Given the description of an element on the screen output the (x, y) to click on. 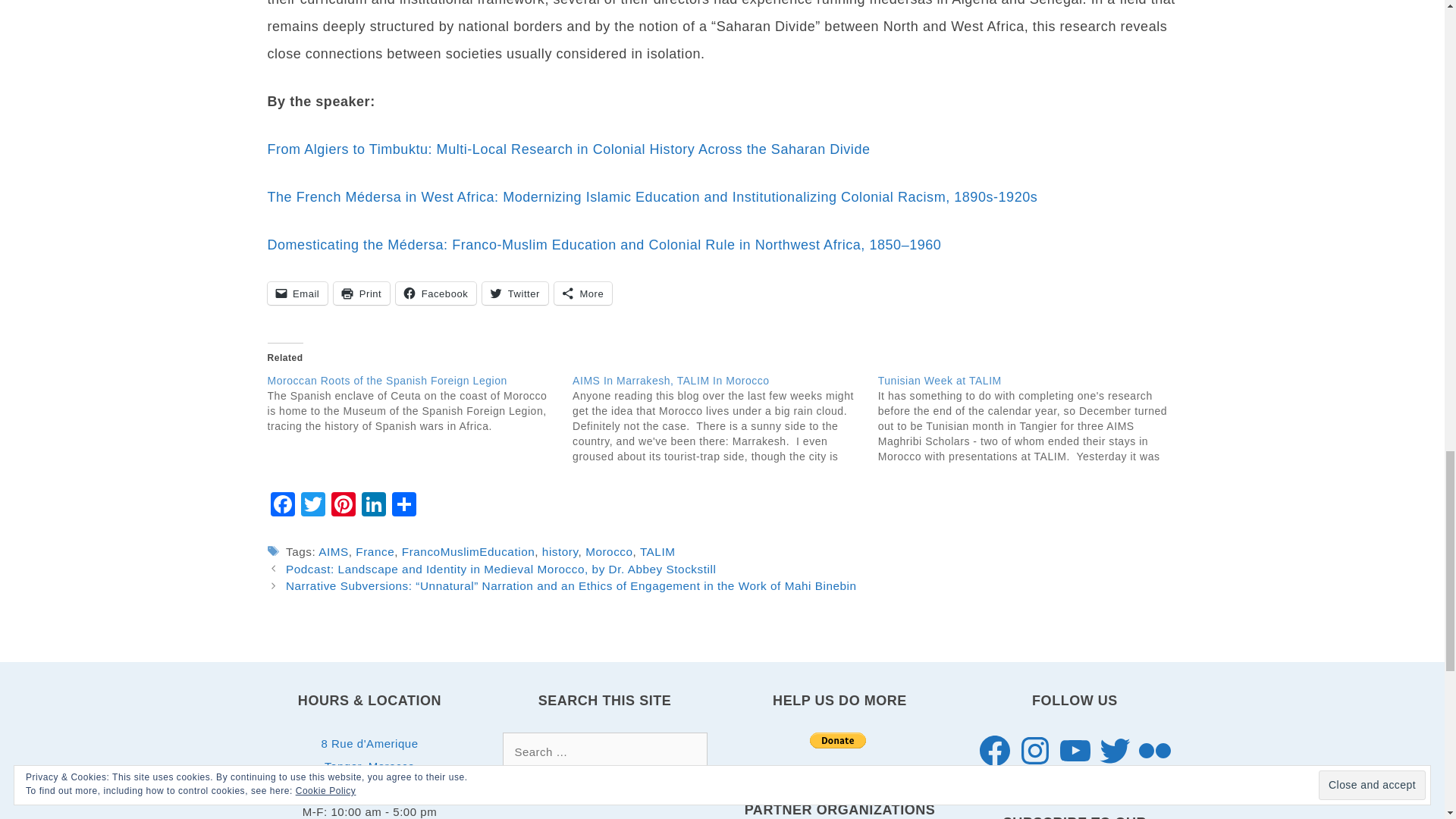
Click to email a link to a friend (296, 292)
Click to share on Twitter (514, 292)
Click to print (361, 292)
Click to share on Facebook (436, 292)
